Given the description of an element on the screen output the (x, y) to click on. 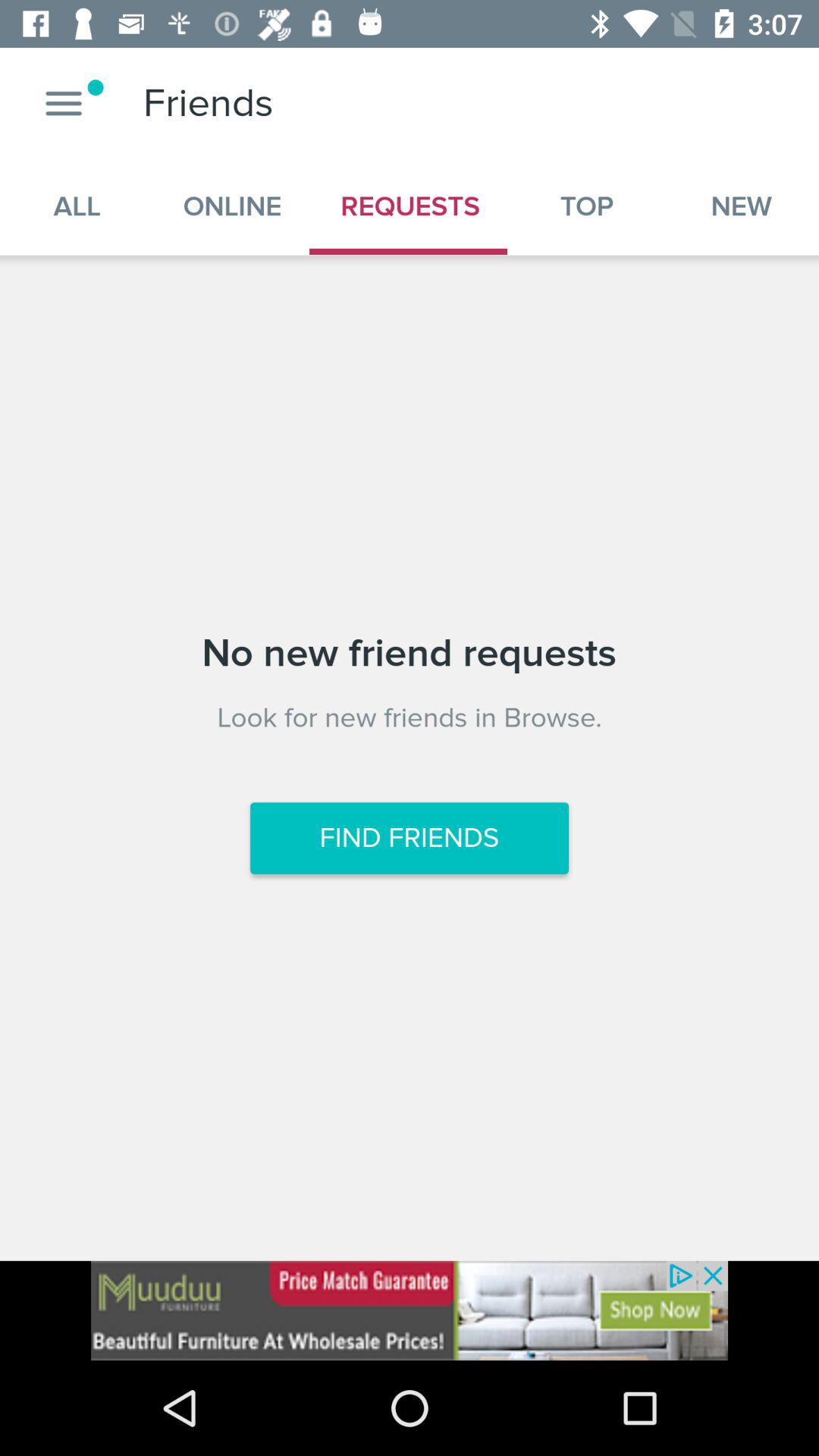
view advertisement (409, 1310)
